Given the description of an element on the screen output the (x, y) to click on. 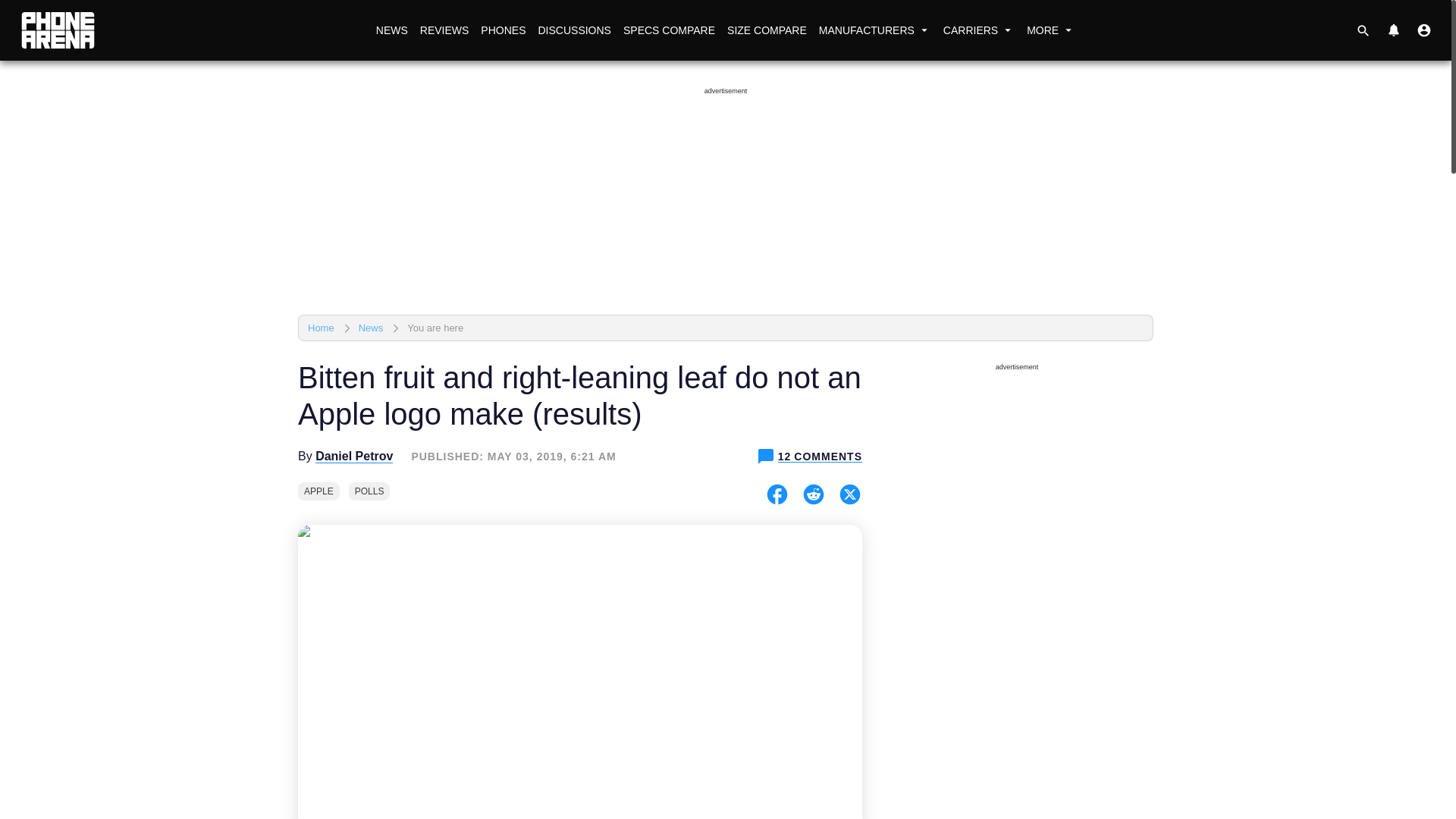
CARRIERS (978, 30)
PHONES (502, 30)
REVIEWS (444, 30)
MANUFACTURERS (874, 30)
MORE (1050, 30)
SIZE COMPARE (766, 30)
DISCUSSIONS (573, 30)
SPECS COMPARE (668, 30)
NEWS (391, 30)
